Given the description of an element on the screen output the (x, y) to click on. 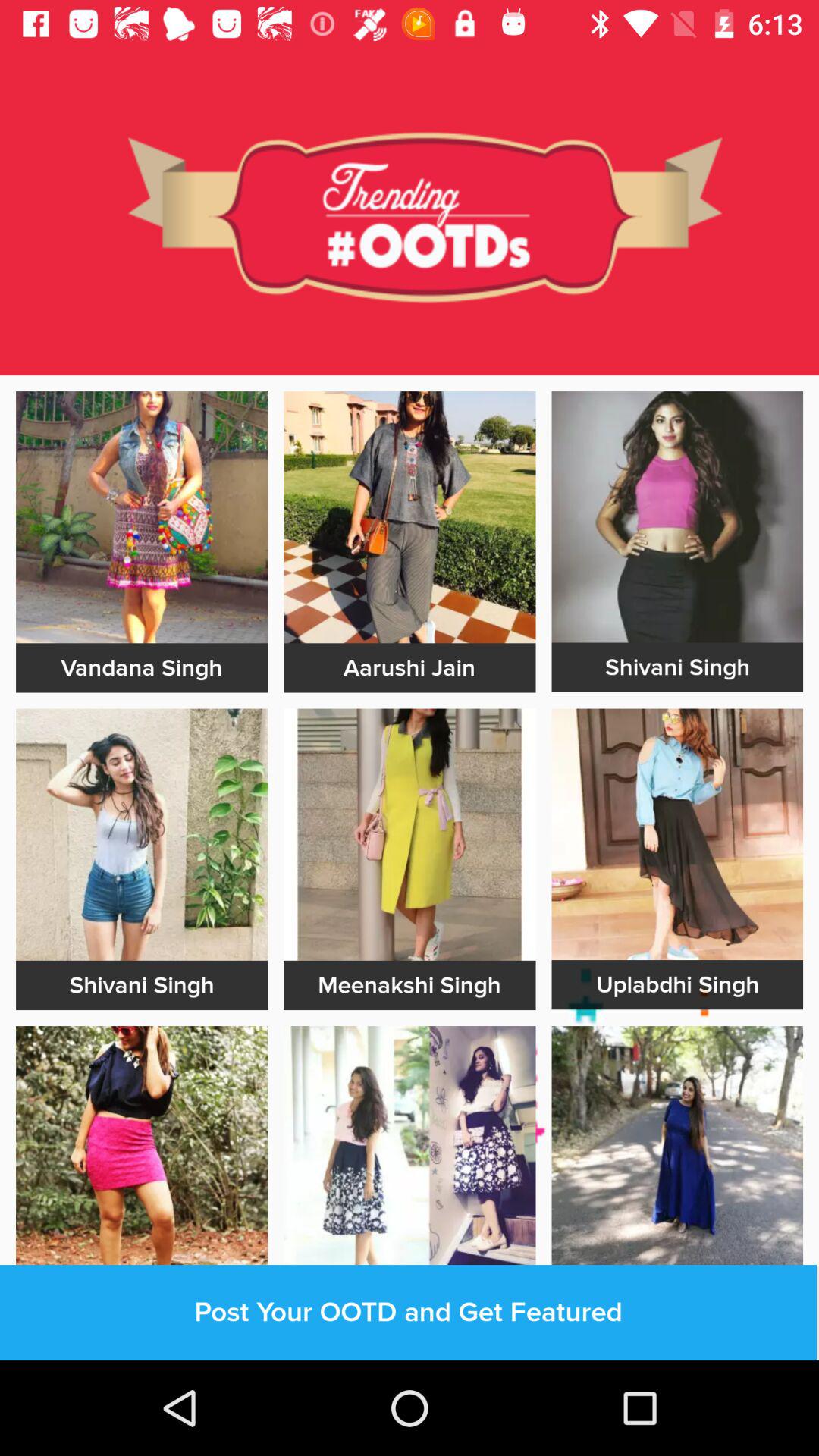
see profile (677, 1151)
